Given the description of an element on the screen output the (x, y) to click on. 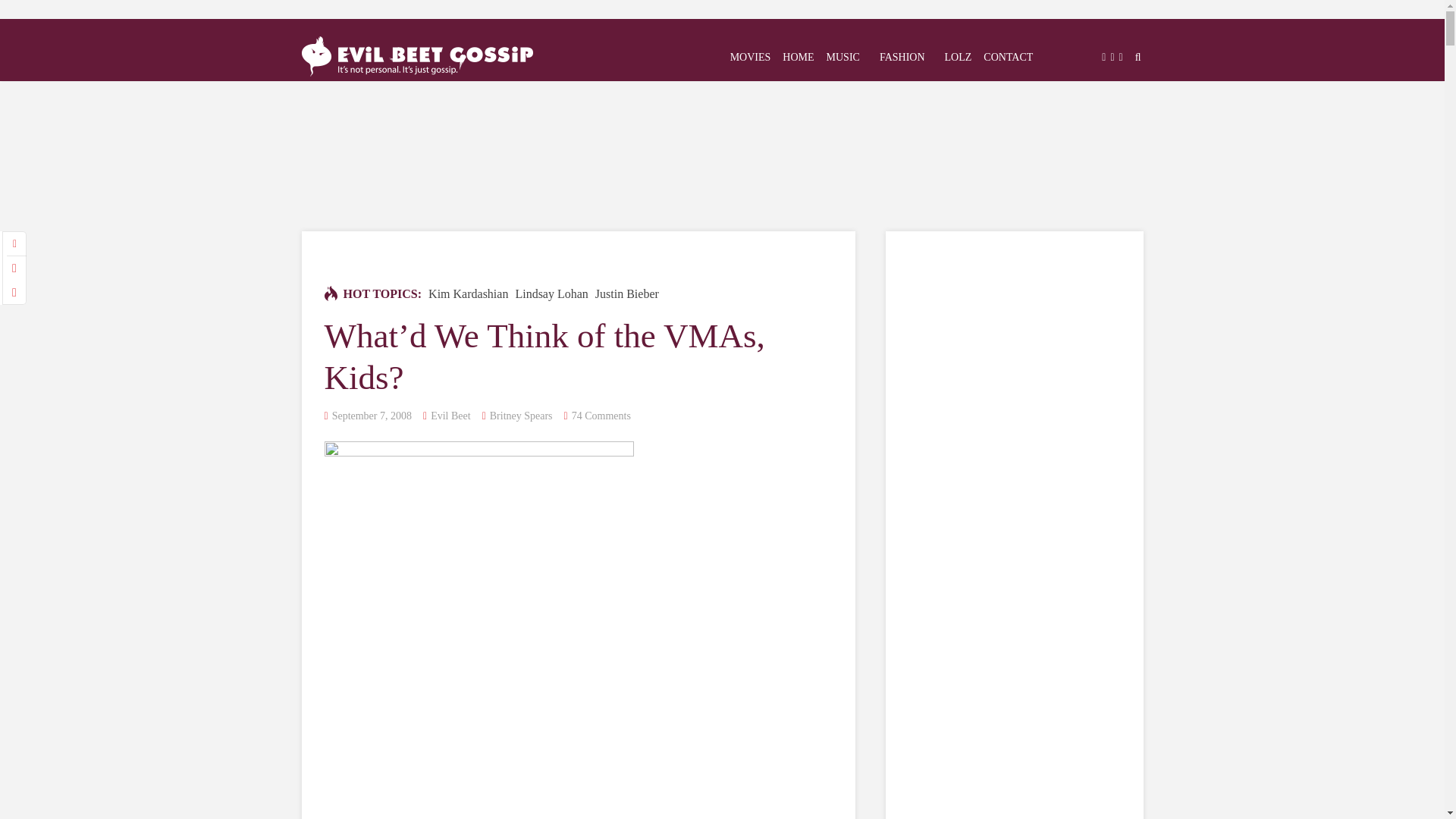
Lindsay Lohan (551, 293)
Britney Spears (521, 415)
Today's Evil Beet Gossip (417, 53)
Justin Bieber (627, 293)
Lindsay Lohan Tag (551, 293)
Kim Kardashian (468, 293)
74 Comments (601, 415)
Justin Bieber Tag (627, 293)
Kim Kardashian Tag (468, 293)
